Given the description of an element on the screen output the (x, y) to click on. 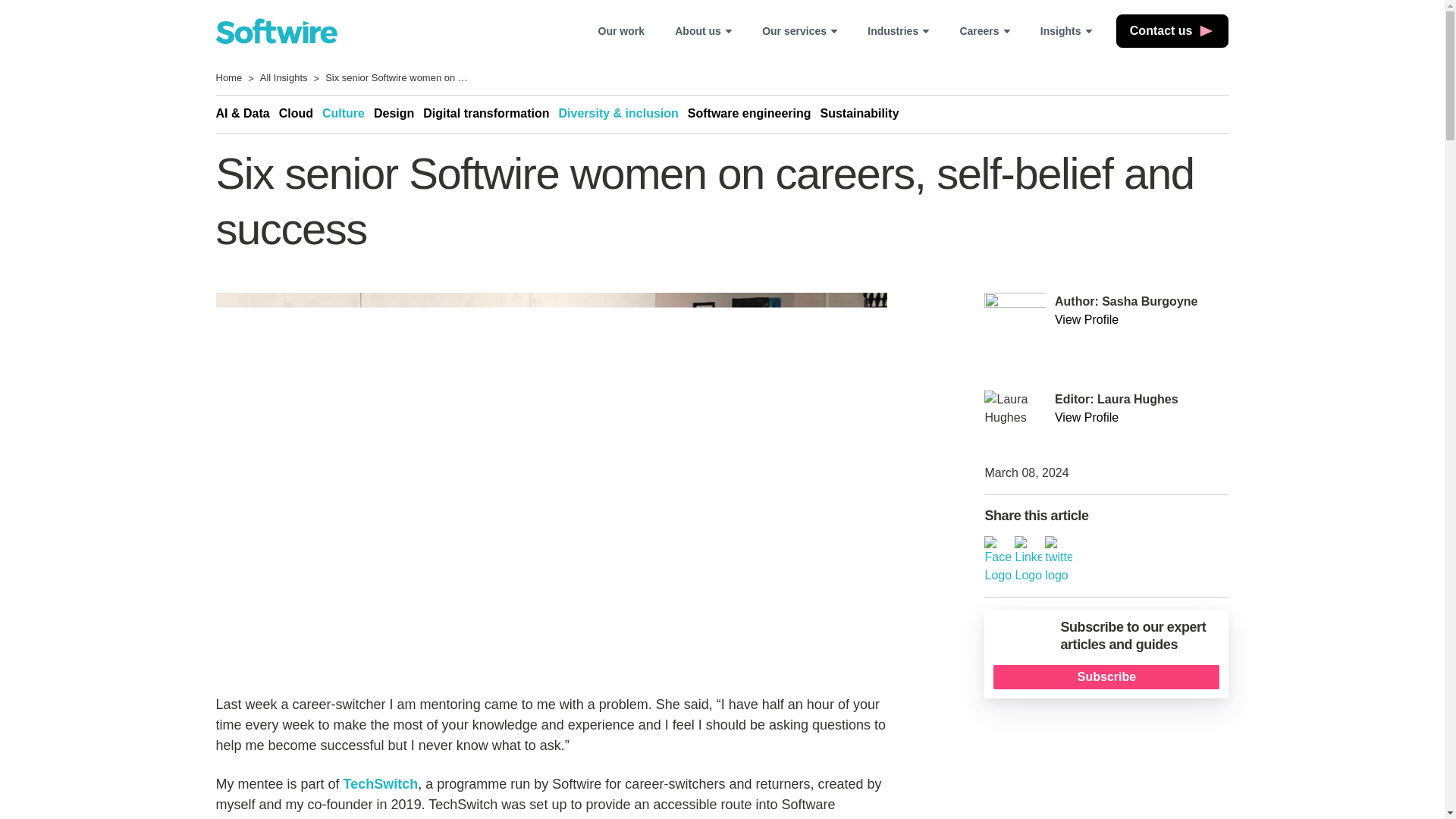
Our work (620, 30)
Careers (983, 30)
Insights (1065, 30)
Go to Softwire. (228, 78)
Contact us (1172, 30)
About us (703, 30)
Sustainability (864, 113)
Digital transformation (490, 113)
Industries (897, 30)
Design (398, 113)
Our services (799, 30)
Cloud (300, 113)
Culture (347, 113)
TechSwitch (381, 783)
All Insights (283, 78)
